Given the description of an element on the screen output the (x, y) to click on. 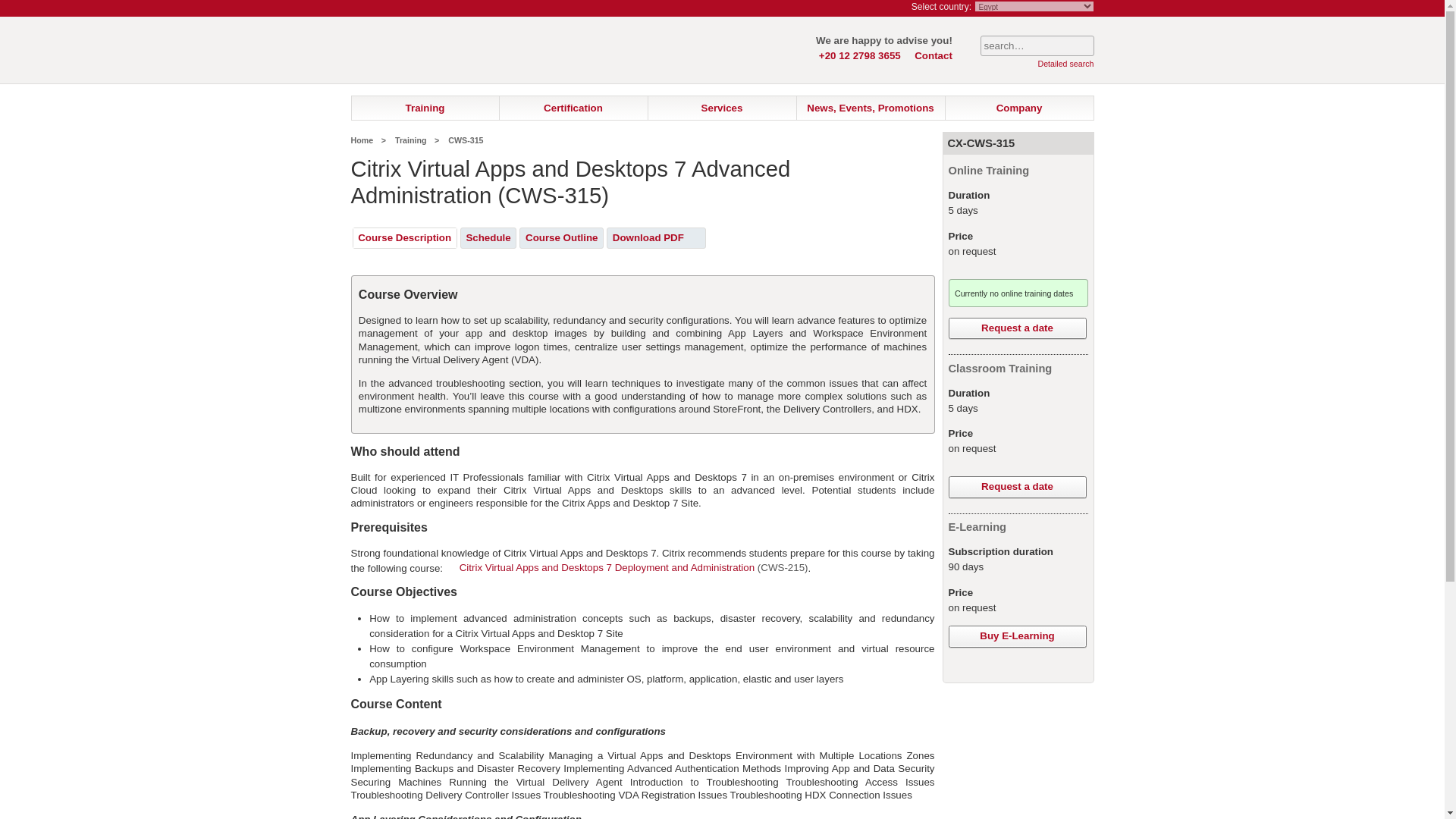
Contact (933, 55)
Training (425, 107)
Select country: (941, 6)
Fast Lane Homepage (440, 61)
Use double quotes to search for exact phrases (1036, 46)
Go to bookings page (886, 7)
Detailed search (1064, 62)
